Given the description of an element on the screen output the (x, y) to click on. 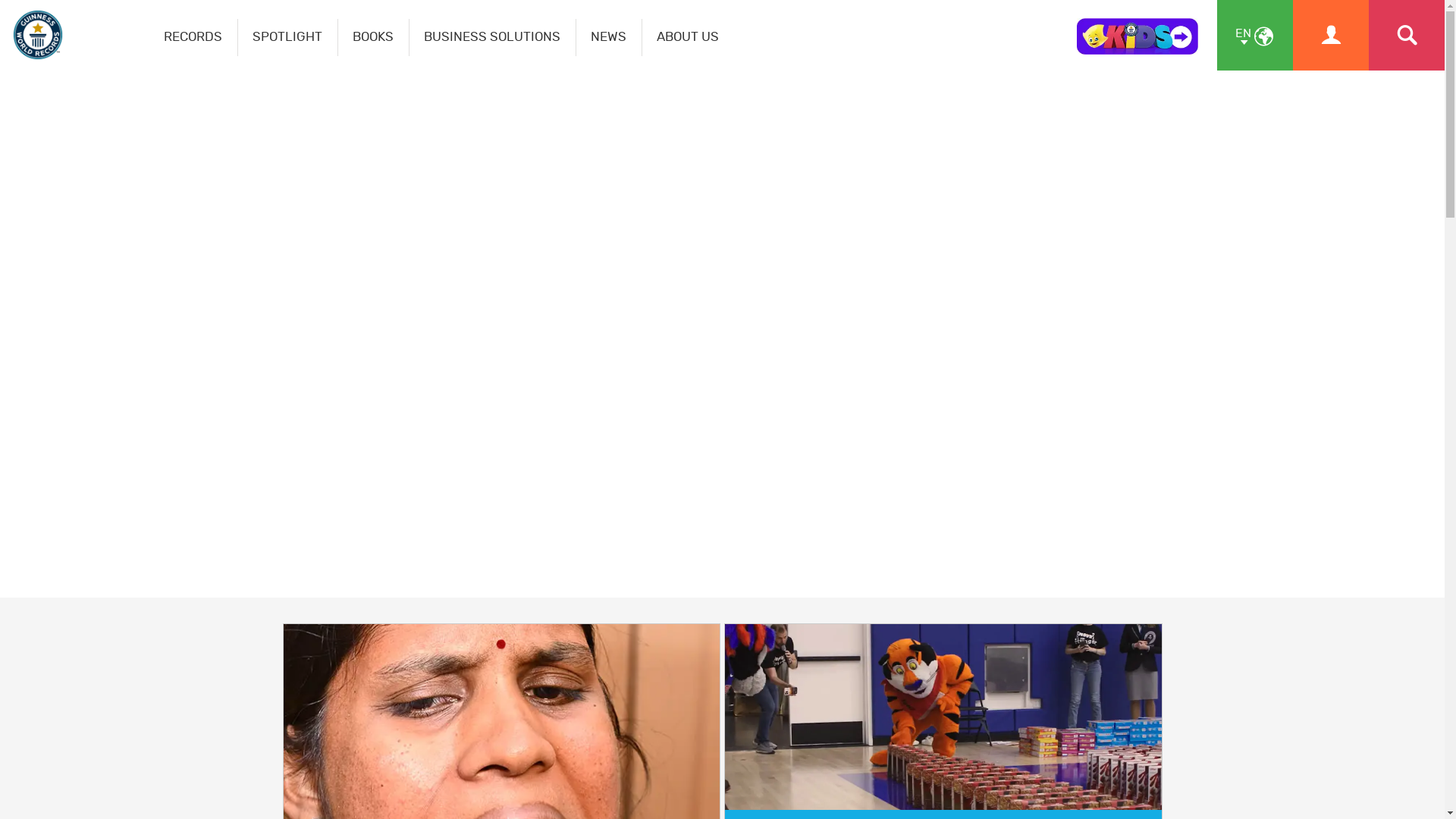
BUSINESS SOLUTIONS Element type: text (492, 37)
GWR Element type: hover (722, 334)
SPOTLIGHT Element type: text (287, 37)
EN Element type: text (1254, 35)
ABOUT US Element type: text (687, 37)
RECORDS Element type: text (193, 37)
BOOKS Element type: text (373, 37)
NEWS Element type: text (608, 37)
Login or Register Element type: hover (1330, 35)
Search Element type: hover (1406, 35)
